Given the description of an element on the screen output the (x, y) to click on. 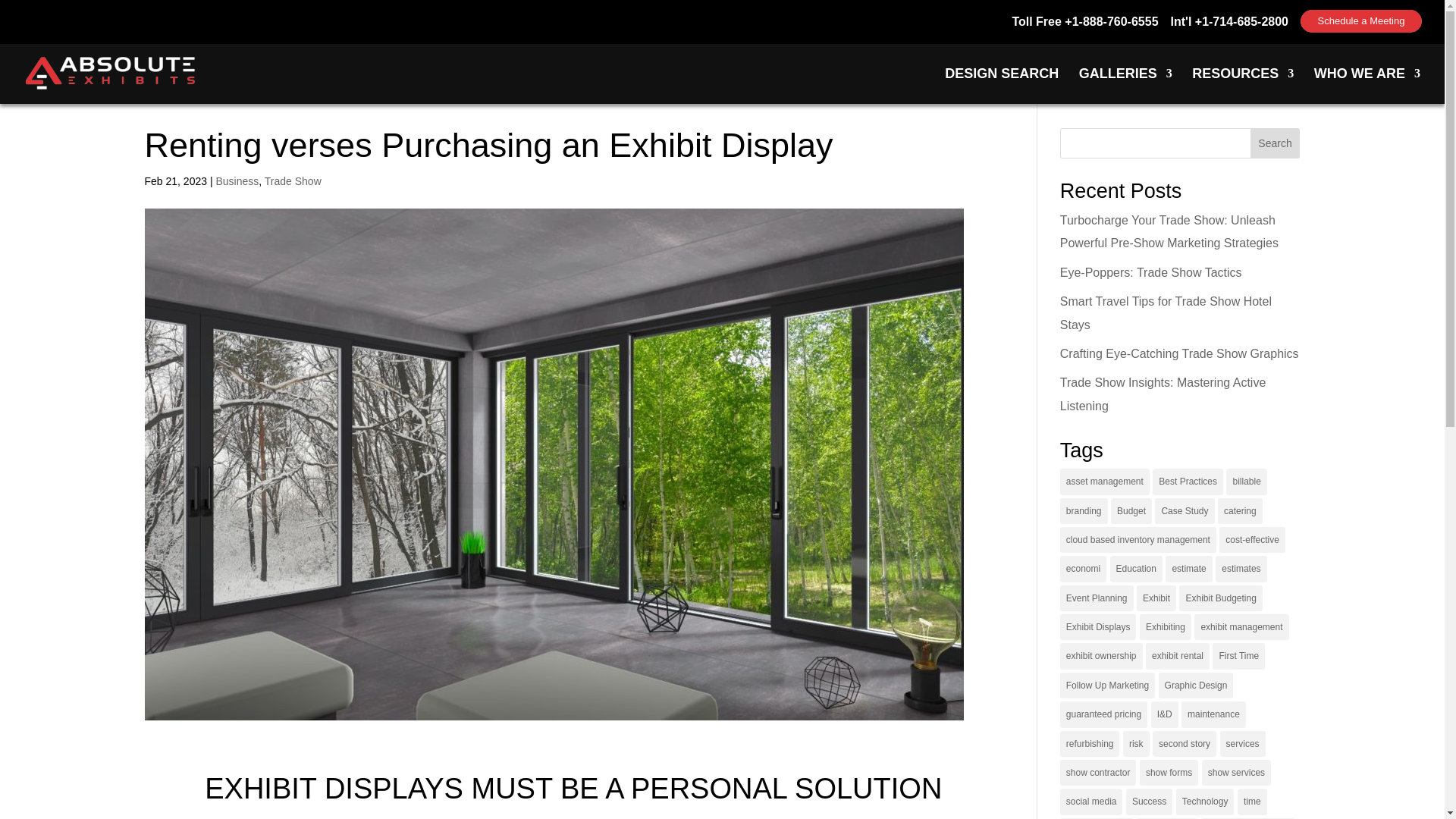
Trade Show (292, 181)
Search (1361, 20)
Crafting Eye-Catching Trade Show Graphics (1275, 142)
Business (1178, 353)
Eye-Poppers: Trade Show Tactics (237, 181)
Search (1150, 272)
GALLERIES (1275, 142)
WHO WE ARE (1125, 85)
DESIGN SEARCH (1367, 85)
Smart Travel Tips for Trade Show Hotel Stays (1001, 85)
asset management (1165, 312)
Trade Show Insights: Mastering Active Listening (1104, 481)
RESOURCES (1162, 393)
